Given the description of an element on the screen output the (x, y) to click on. 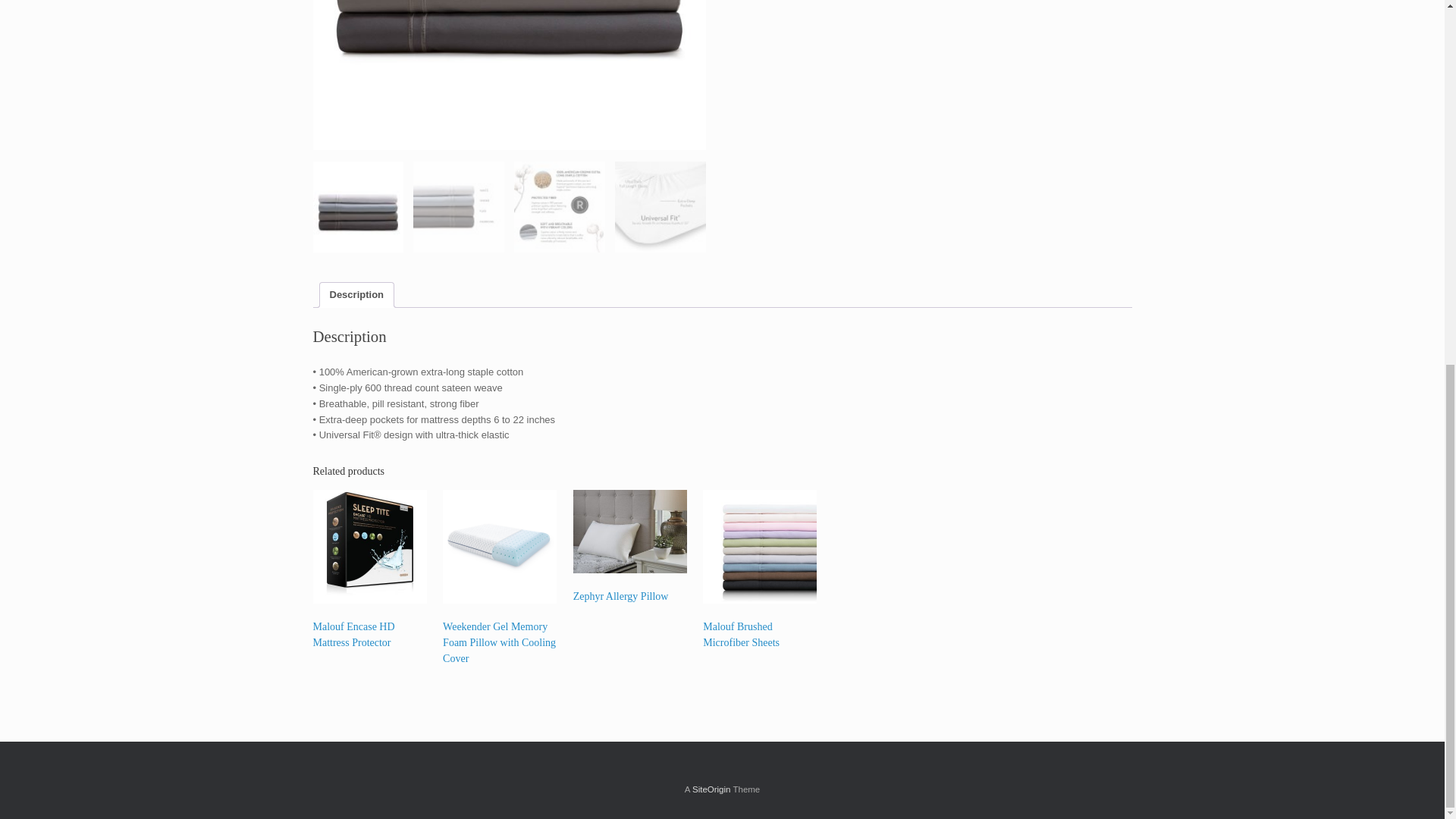
Description (356, 294)
